Given the description of an element on the screen output the (x, y) to click on. 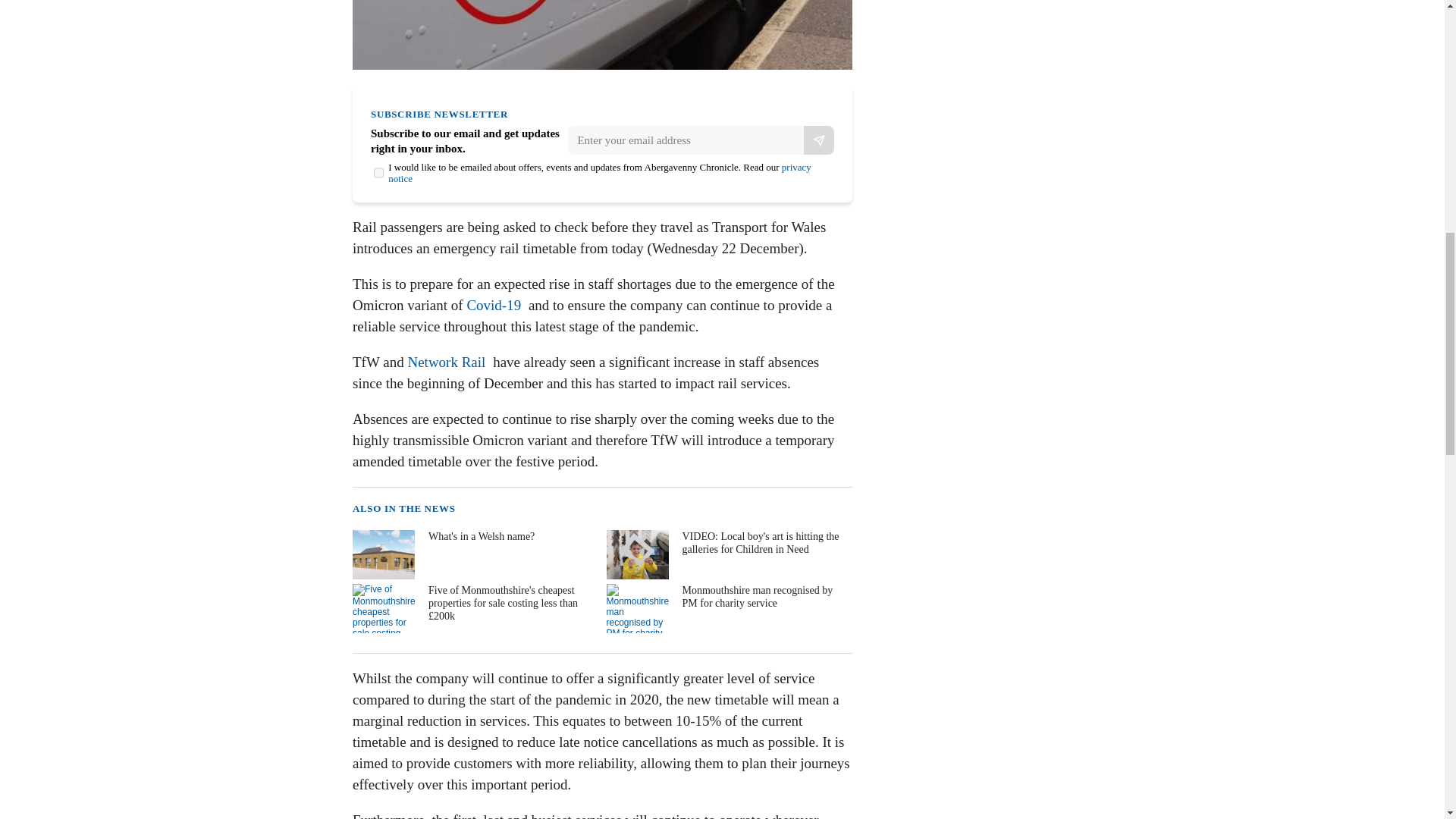
Monmouthshire man recognised by PM for charity service (727, 608)
privacy notice (599, 172)
What's in a Welsh name? (473, 554)
Covid-19 (493, 304)
Network Rail (445, 361)
